Given the description of an element on the screen output the (x, y) to click on. 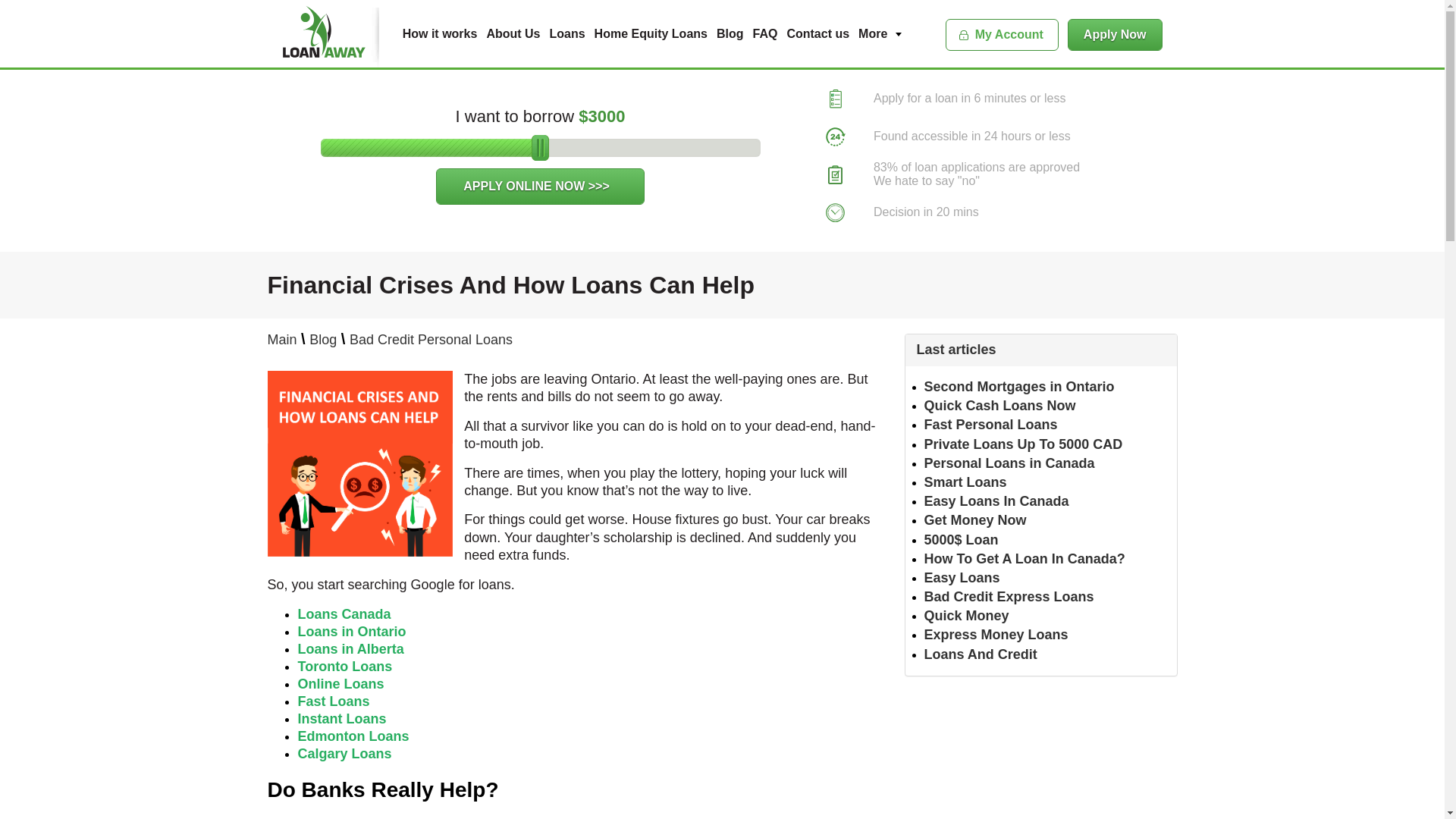
Private Loans Up To 5000 CAD (1022, 444)
Loans (566, 33)
Blog (322, 339)
Edmonton Loans (353, 735)
Loans Canada (343, 613)
Fast Personal Loans (990, 424)
More (880, 33)
Apply Now (1114, 34)
Bad Credit Personal Loans (430, 339)
Contact us (817, 33)
Second Mortgages in Ontario (1018, 386)
Blog (730, 33)
About Us (513, 33)
Instant Loans (341, 718)
Loans in Ontario (351, 631)
